Given the description of an element on the screen output the (x, y) to click on. 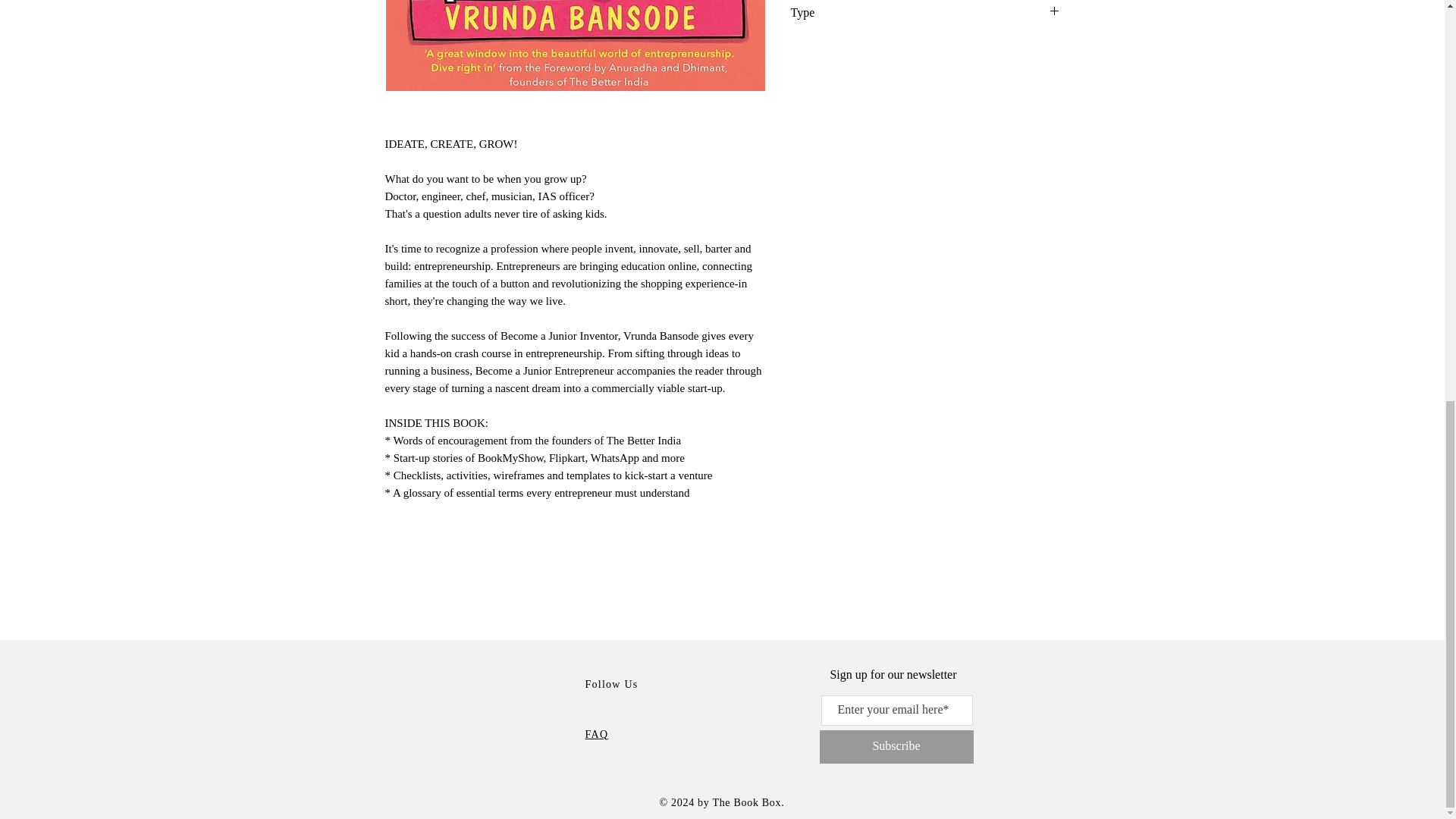
Type (924, 12)
Subscribe (895, 746)
FAQ (596, 734)
